Given the description of an element on the screen output the (x, y) to click on. 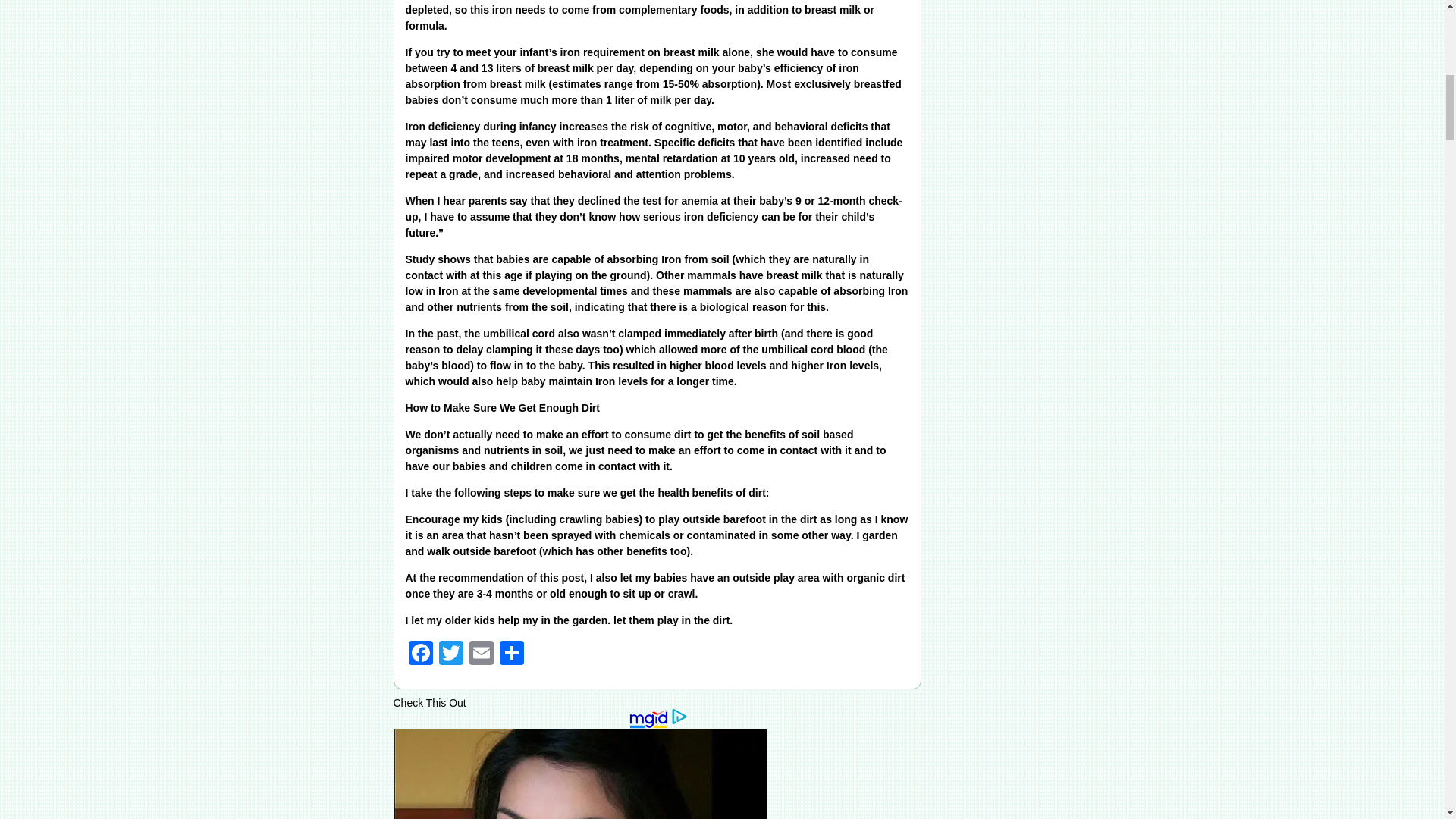
Email (480, 652)
Twitter (450, 652)
Facebook (419, 652)
Share (510, 652)
Twitter (450, 652)
Facebook (419, 652)
Email (480, 652)
